Given the description of an element on the screen output the (x, y) to click on. 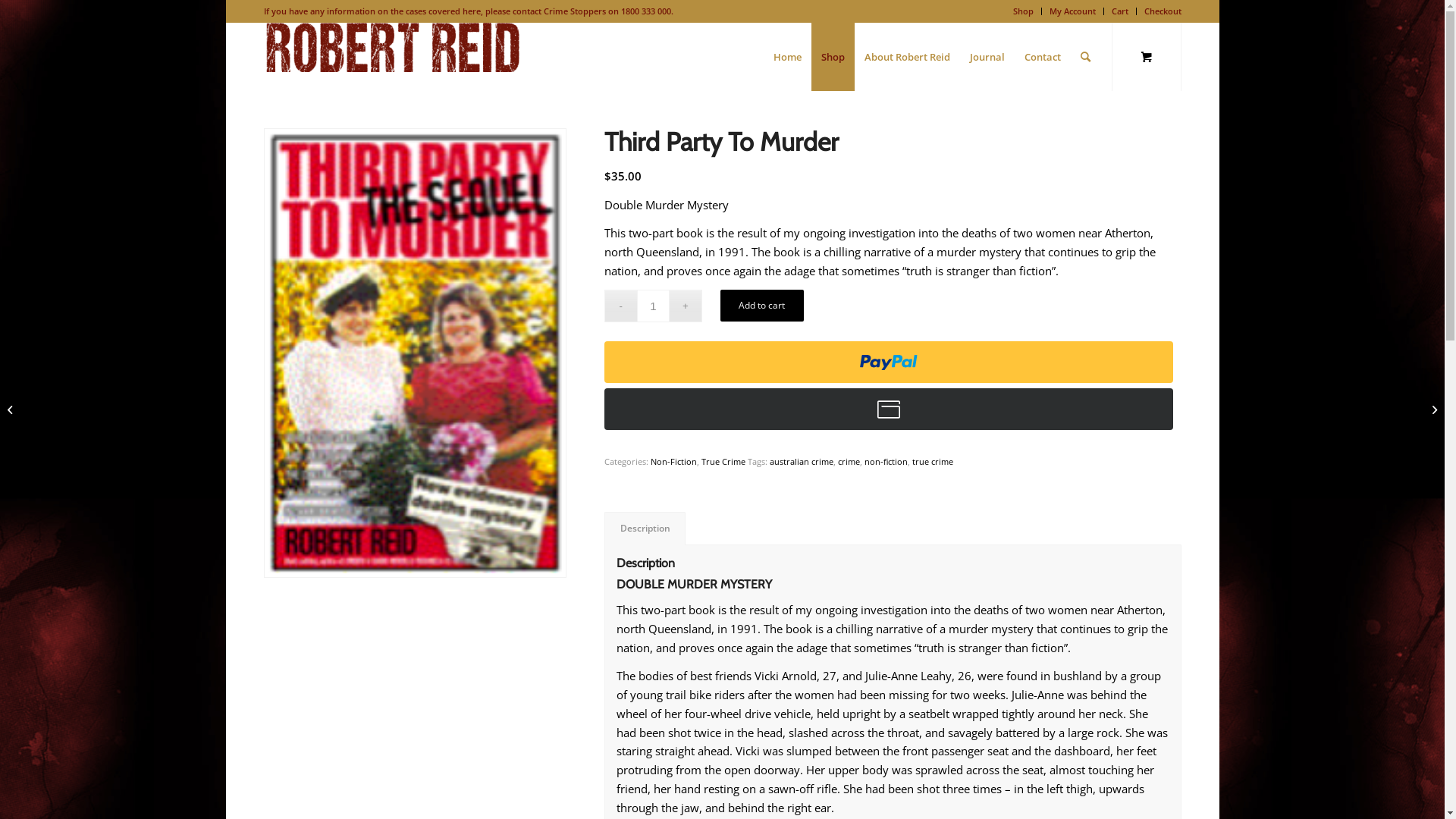
Non-Fiction Element type: text (673, 461)
australian crime Element type: text (801, 461)
true crime Element type: text (932, 461)
Cart Element type: text (1119, 10)
Checkout Element type: text (1161, 10)
Qty Element type: hover (653, 305)
True Crime Element type: text (723, 461)
PayPal Element type: hover (892, 361)
My Account Element type: text (1072, 10)
Journal Element type: text (987, 56)
About Robert Reid Element type: text (906, 56)
PayPal Element type: hover (892, 408)
non-fiction Element type: text (885, 461)
Add to cart Element type: text (761, 305)
Robert Reid Element type: hover (392, 47)
Home Element type: text (786, 56)
crime Element type: text (848, 461)
Description Element type: text (644, 528)
Shop Element type: text (1023, 10)
Contact Element type: text (1042, 56)
Shop Element type: text (832, 56)
